Given the description of an element on the screen output the (x, y) to click on. 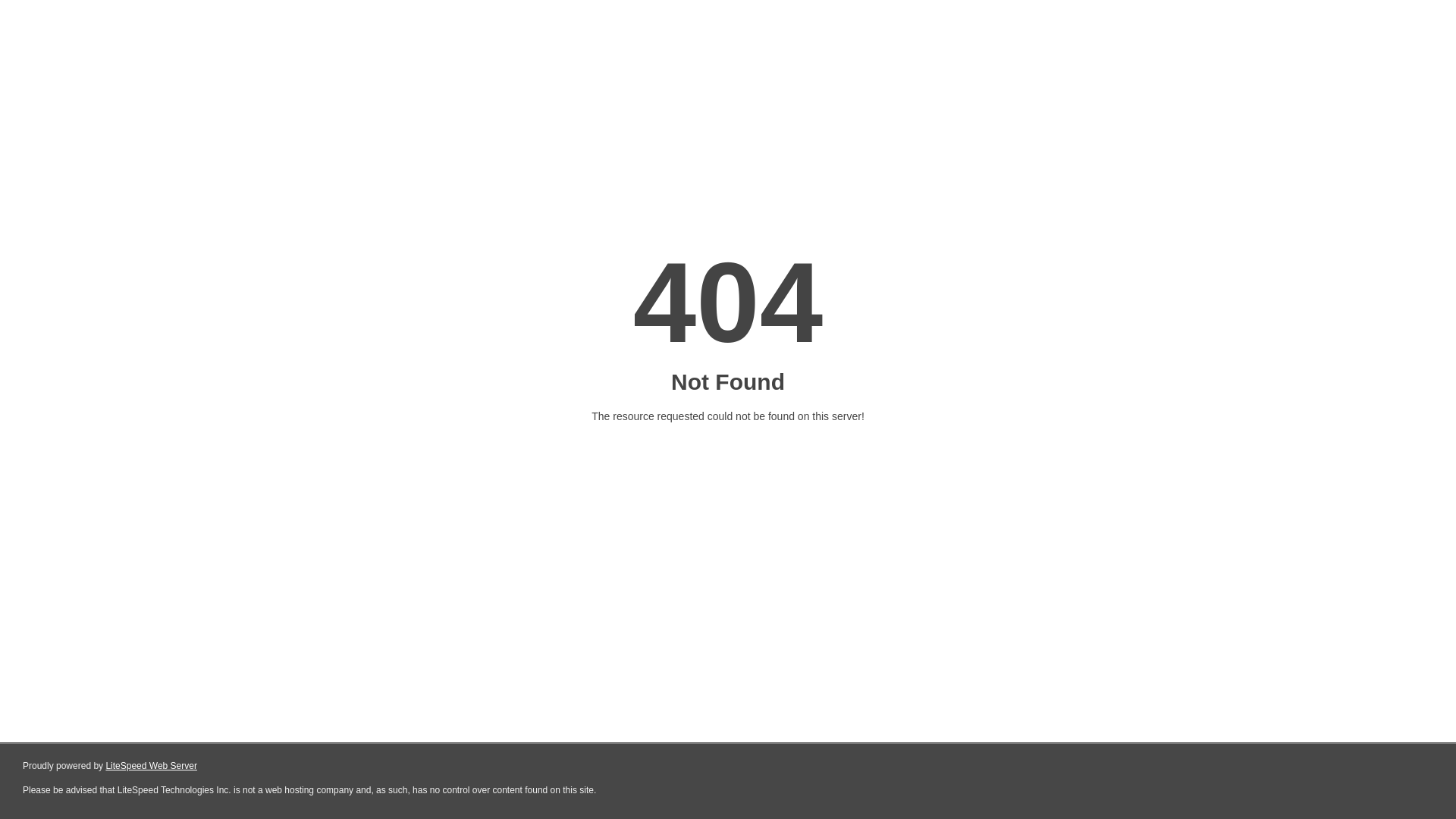
LiteSpeed Web Server Element type: text (151, 765)
